Given the description of an element on the screen output the (x, y) to click on. 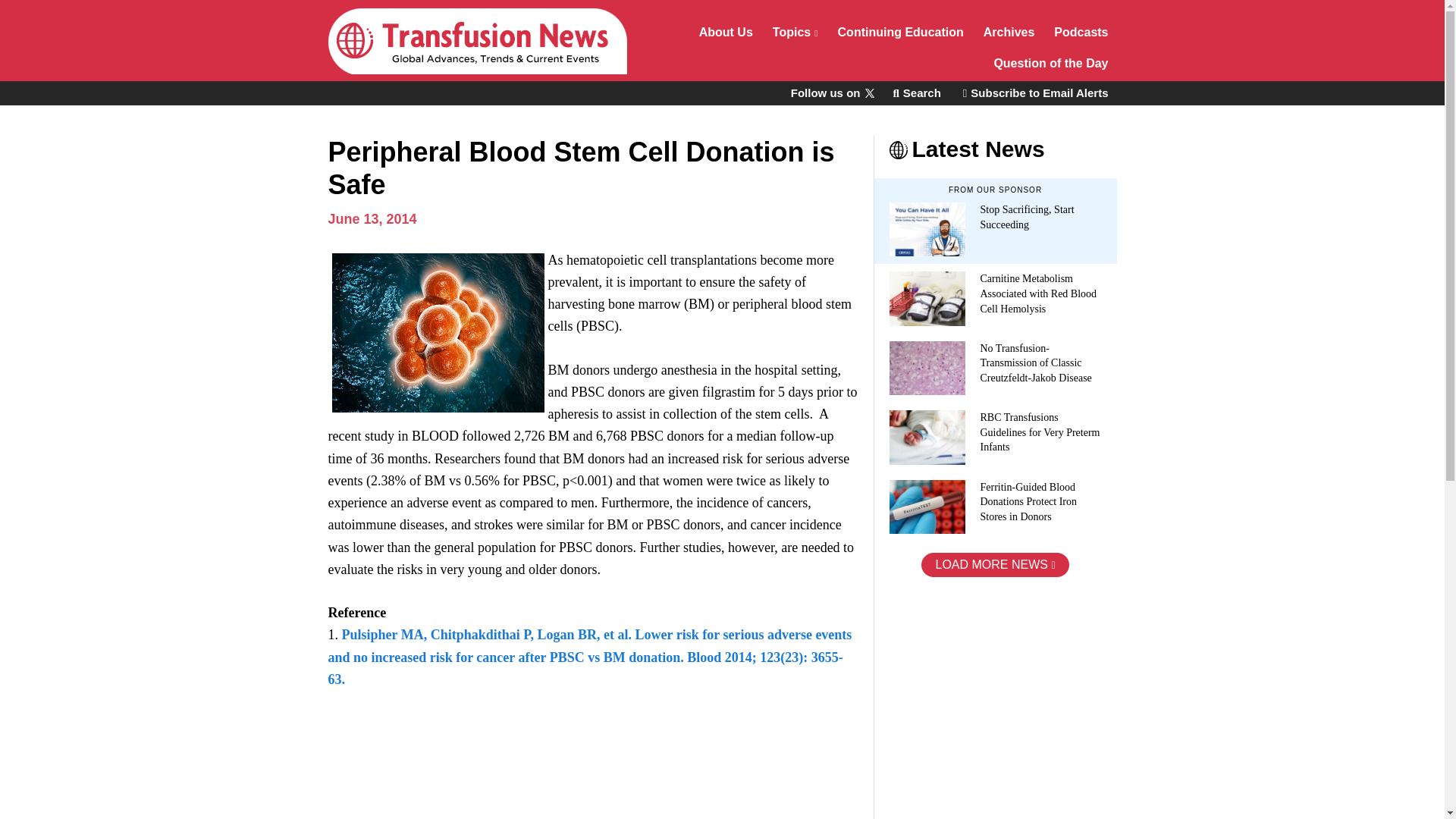
Transfusion News (476, 41)
Subscribe to Email Alerts (1035, 93)
About Us (725, 33)
Continuing Education (900, 33)
Topics (795, 33)
Question of the Day (1050, 65)
Archives (1009, 33)
Search (915, 93)
Follow us on (831, 92)
Podcasts (1080, 33)
3rd party ad content (986, 698)
